Given the description of an element on the screen output the (x, y) to click on. 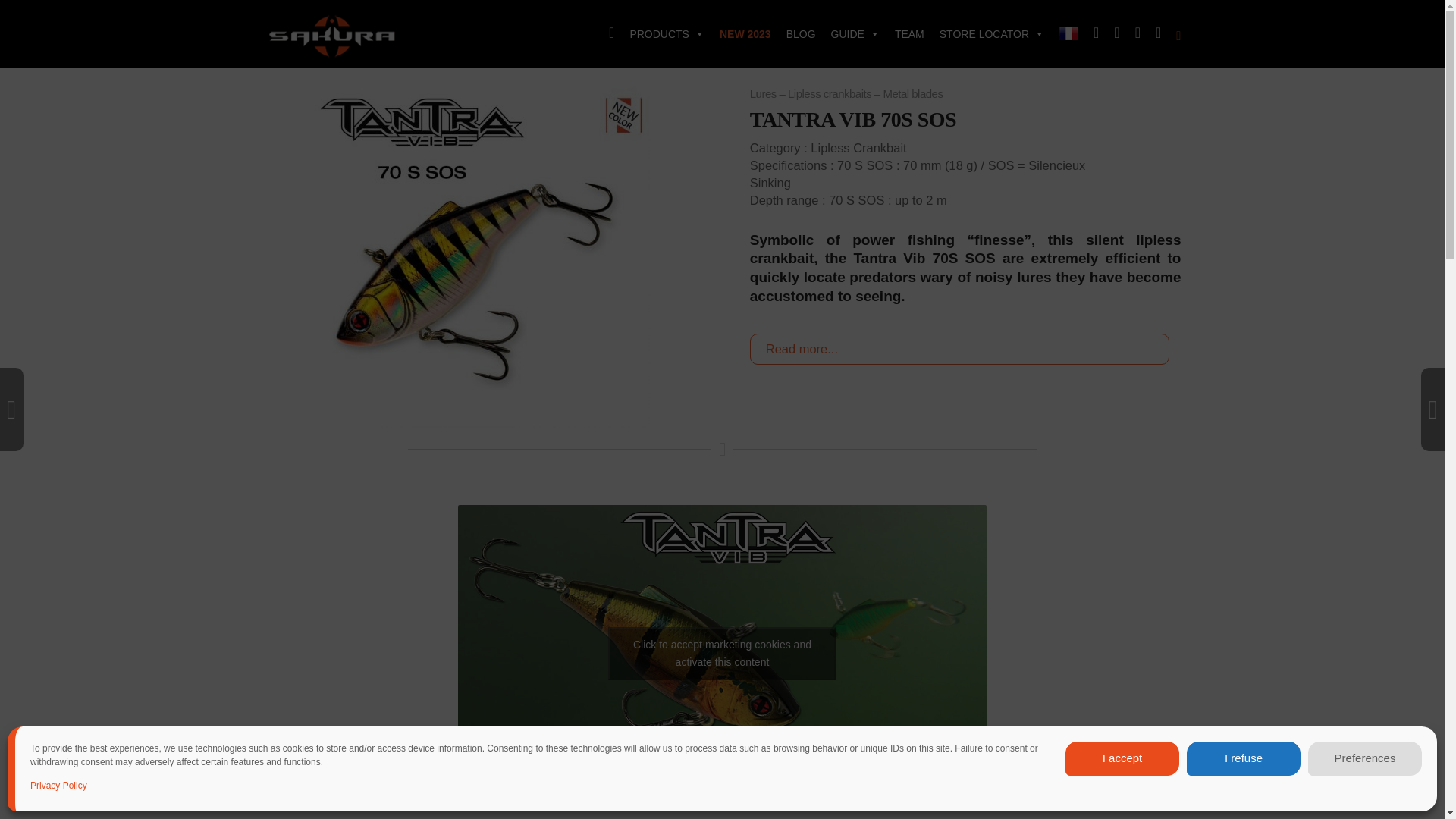
STORE LOCATOR (991, 34)
GUIDE (855, 34)
New colors (478, 256)
BLOG (801, 34)
NEW 2023 (744, 34)
PRODUCTS (666, 34)
TEAM (908, 34)
